Given the description of an element on the screen output the (x, y) to click on. 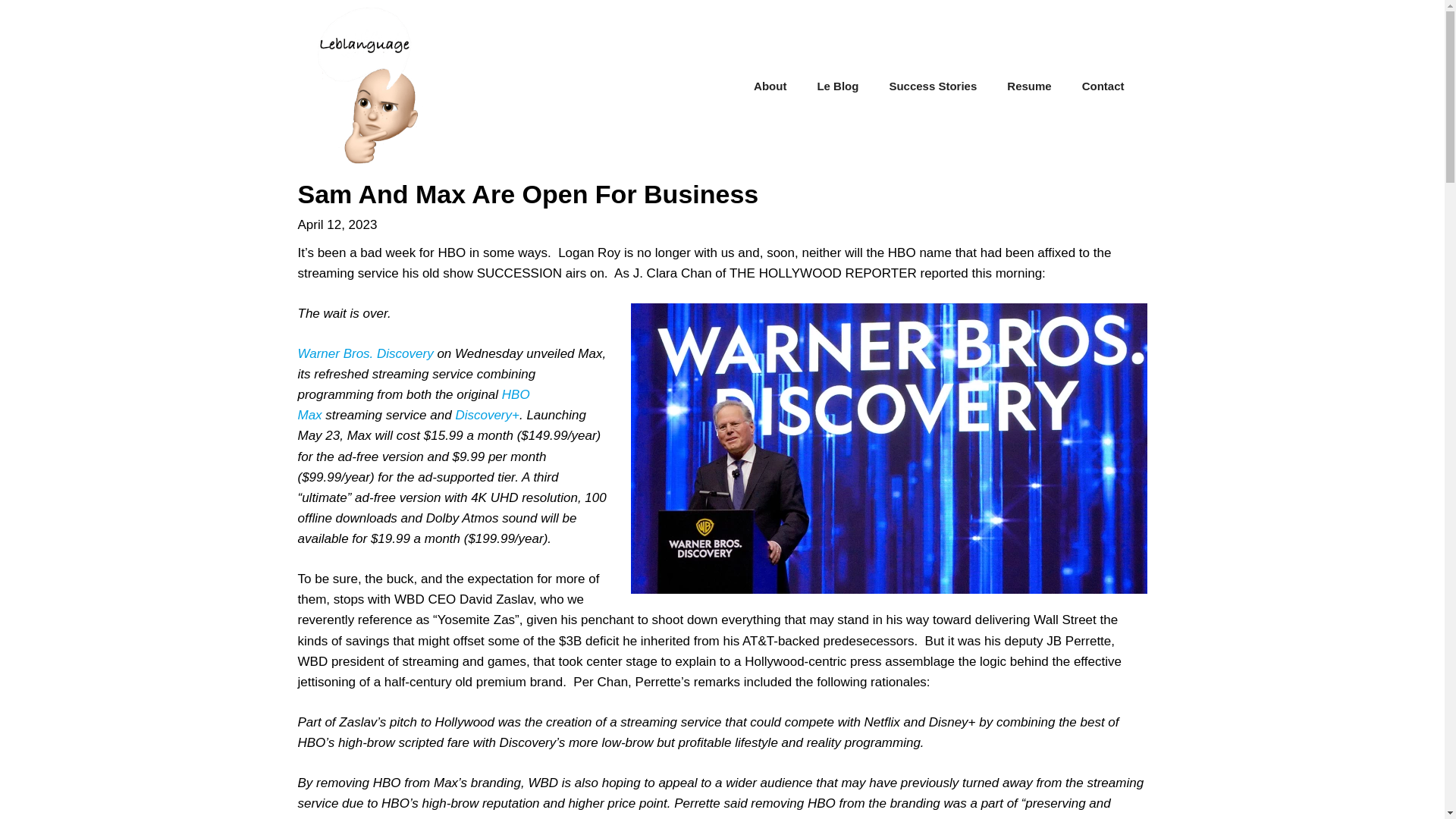
Success Stories (932, 85)
Warner Bros. Discovery (364, 353)
Contact (1103, 85)
Resume (1028, 85)
Le Blog (837, 85)
HBO Max (413, 404)
About (770, 85)
